Given the description of an element on the screen output the (x, y) to click on. 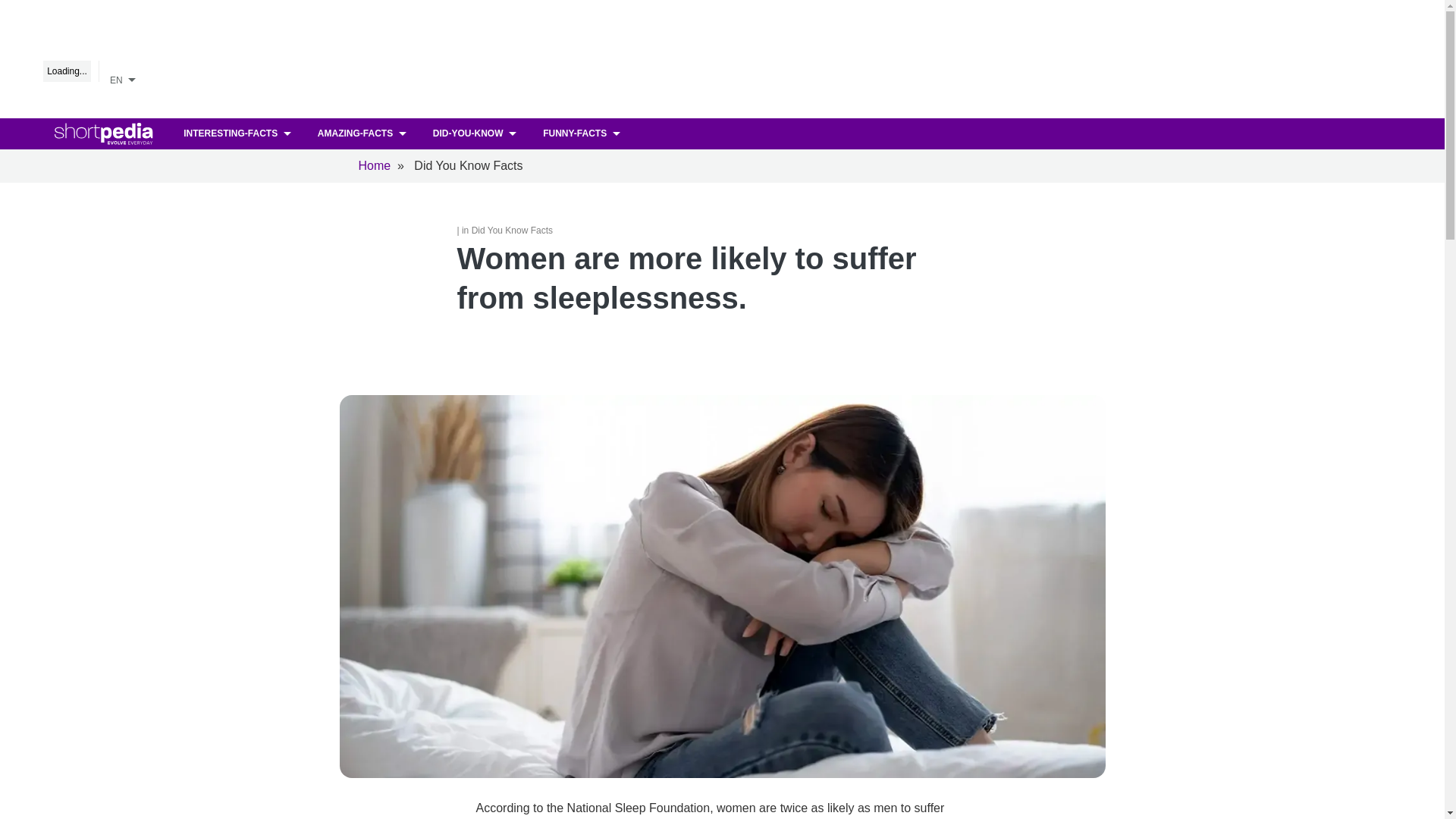
INTERESTING-FACTS (238, 133)
FUNNY-FACTS (582, 133)
AMAZING-FACTS (363, 133)
EN (125, 76)
DID-YOU-KNOW (476, 133)
